Given the description of an element on the screen output the (x, y) to click on. 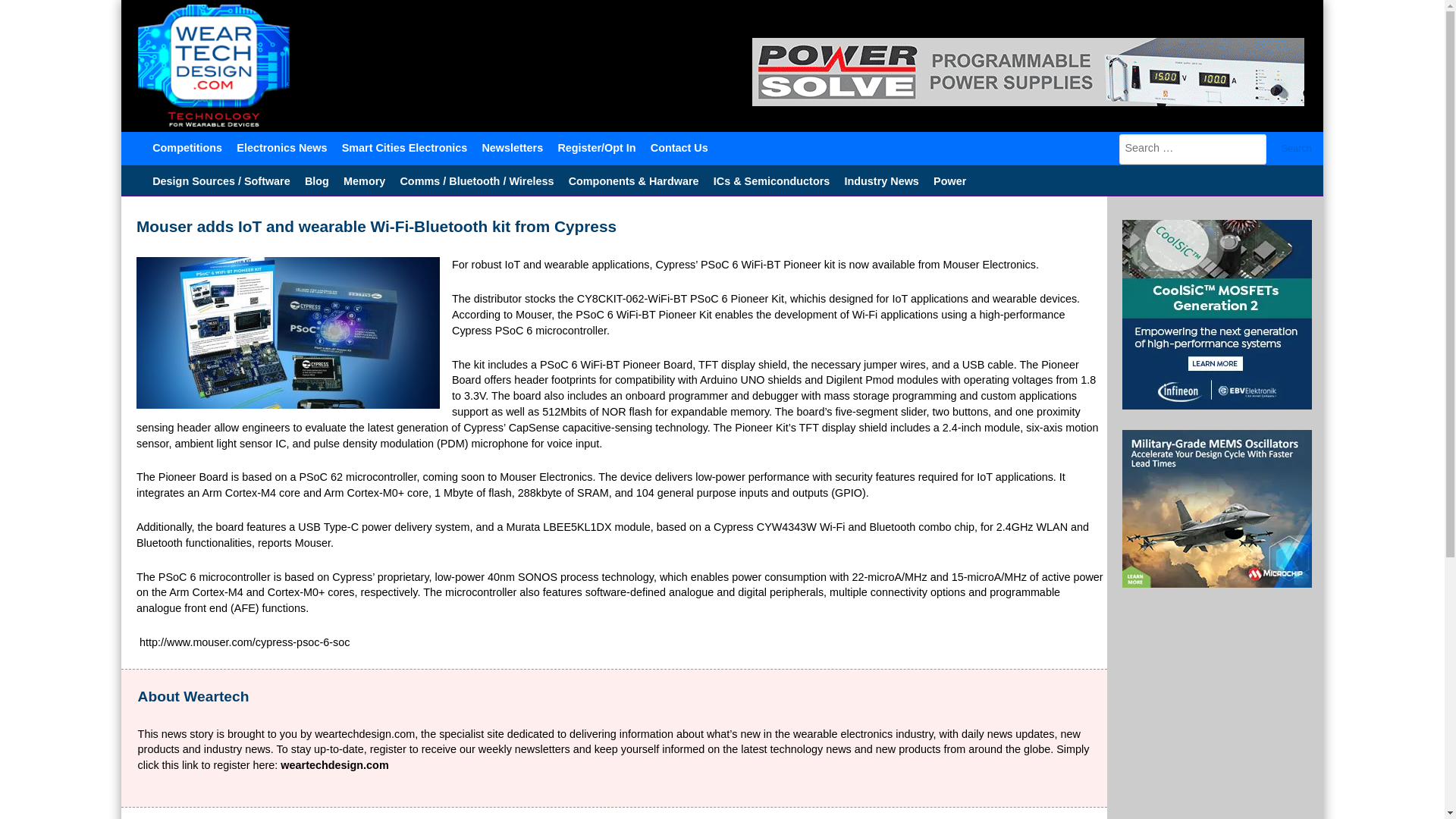
Newsletters (512, 146)
Industry News (881, 180)
Power (949, 180)
Electronics News (282, 146)
Search (1296, 148)
Search (1296, 148)
Search for: (1192, 149)
Contact Us (678, 146)
Search (1296, 148)
Competitions (187, 146)
